Given the description of an element on the screen output the (x, y) to click on. 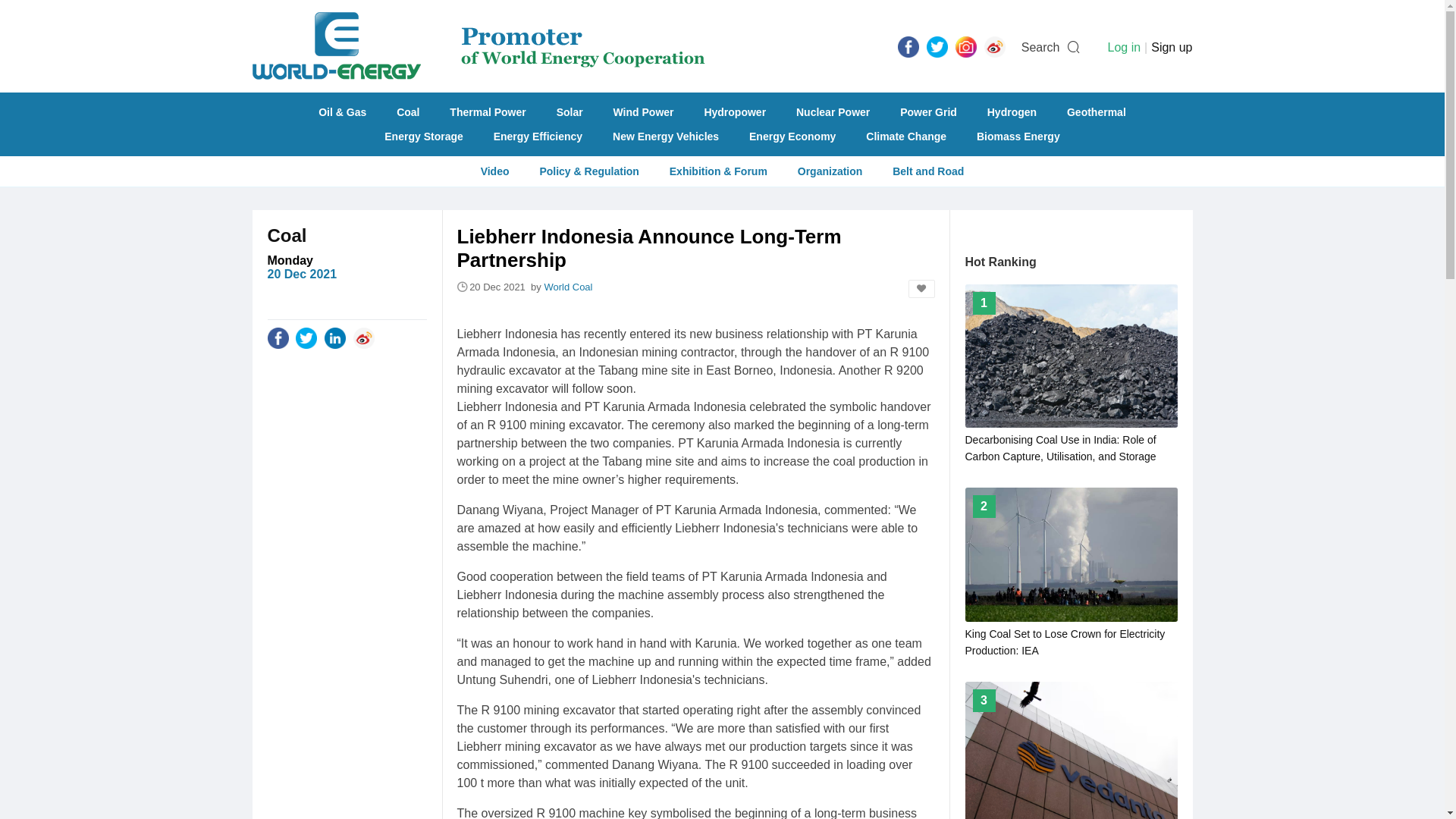
Share on Weibo (363, 337)
Hydrogen (1011, 111)
Organization (830, 171)
Share on Facebook (277, 337)
Tweet (936, 46)
Energy Efficiency (538, 136)
Instagram (965, 46)
Add to my favorites (921, 289)
New Energy Vehicles (665, 136)
Coal (407, 111)
